Given the description of an element on the screen output the (x, y) to click on. 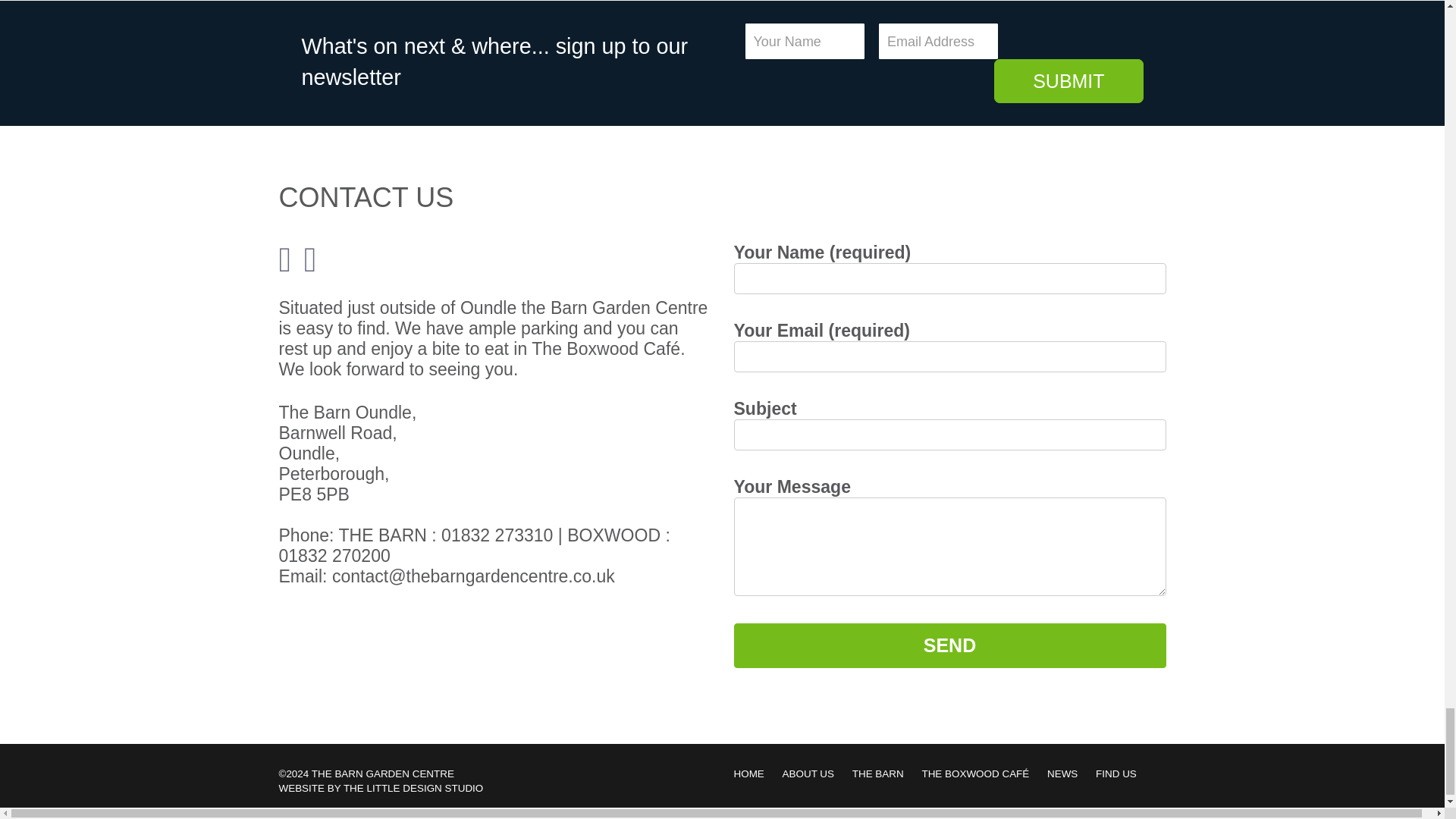
FIND US (1123, 773)
HOME (755, 773)
THE LITTLE DESIGN STUDIO (413, 787)
THE BARN (884, 773)
NEWS (1069, 773)
SUBMIT (1068, 80)
THE BARN GARDEN CENTRE (382, 773)
ABOUT US (815, 773)
Send (949, 645)
Send (949, 645)
